Given the description of an element on the screen output the (x, y) to click on. 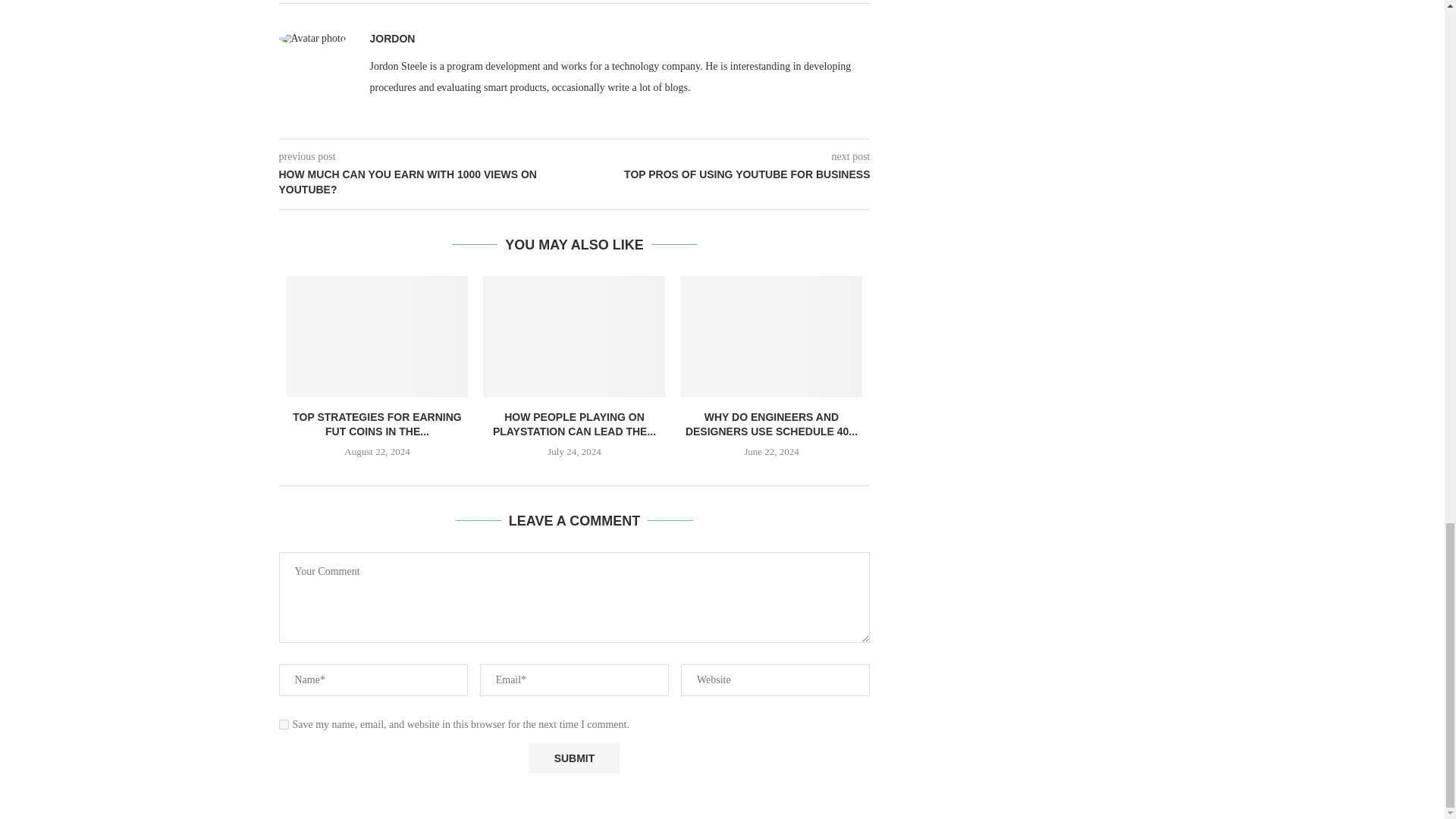
TOP STRATEGIES FOR EARNING FUT COINS IN THE... (376, 424)
HOW MUCH CAN YOU EARN WITH 1000 VIEWS ON YOUTUBE? (427, 182)
TOP PROS OF USING YOUTUBE FOR BUSINESS (722, 174)
Top Strategies for Earning FUT Coins in the Game (377, 336)
Submit (574, 757)
HOW PEOPLE PLAYING ON PLAYSTATION CAN LEAD THE... (574, 424)
yes (283, 724)
Submit (574, 757)
WHY DO ENGINEERS AND DESIGNERS USE SCHEDULE 40... (771, 424)
